Given the description of an element on the screen output the (x, y) to click on. 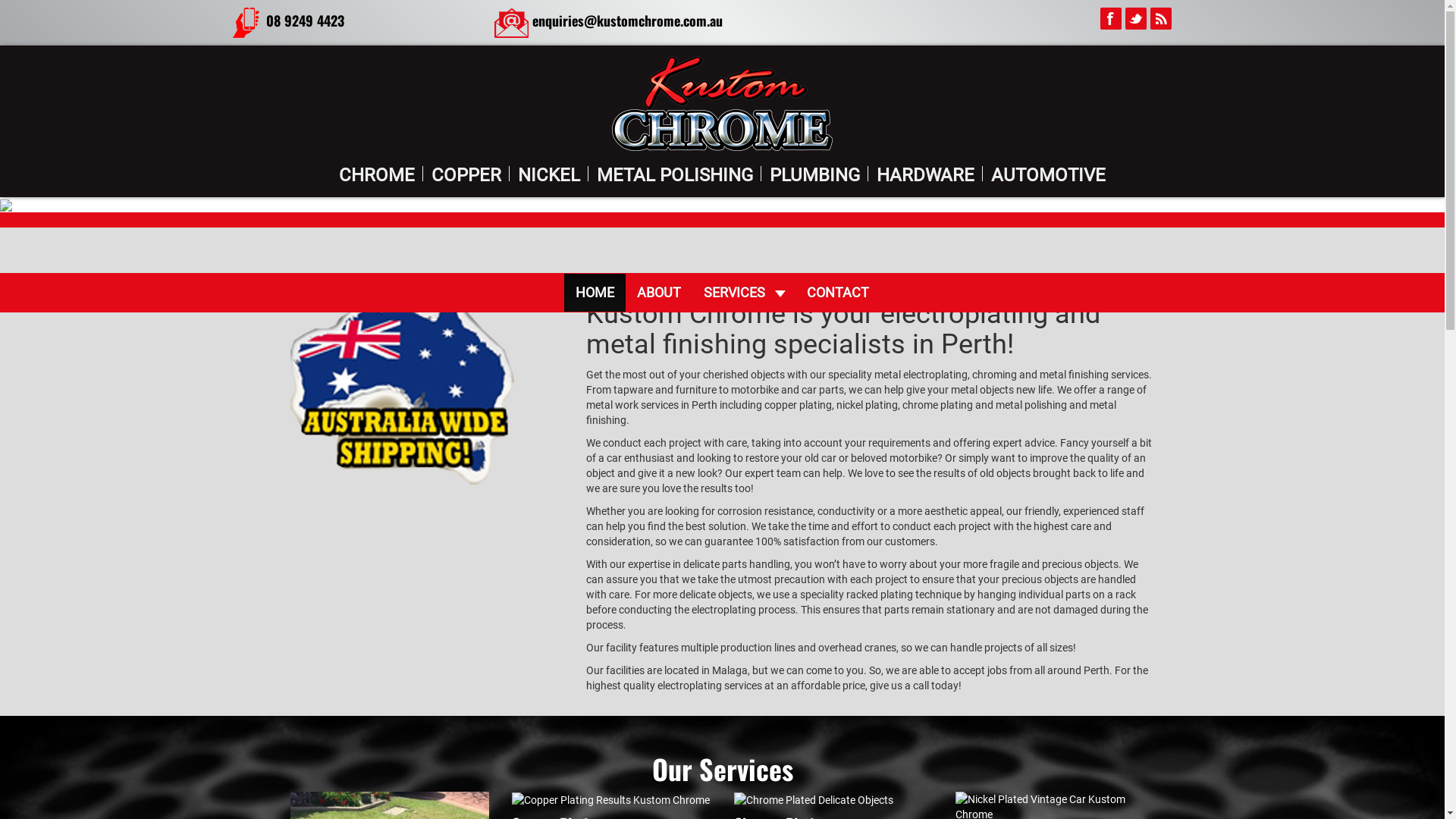
SERVICES Element type: text (730, 292)
08 9249 4423 Element type: text (305, 20)
HOME Element type: text (594, 292)
CONTACT Element type: text (837, 292)
enquiries@kustomchrome.com.au Element type: text (627, 20)
ABOUT Element type: text (658, 292)
